Given the description of an element on the screen output the (x, y) to click on. 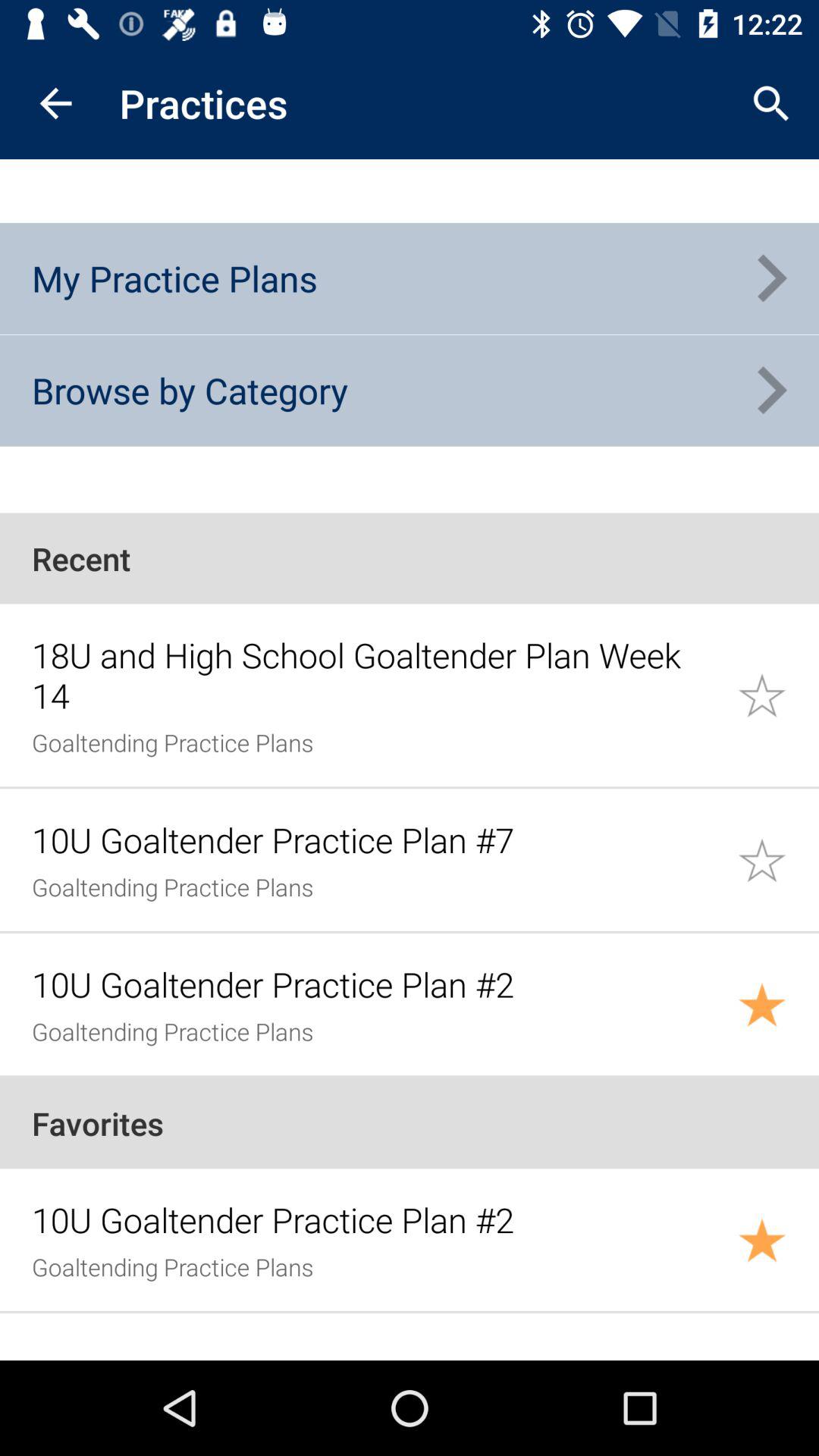
press item above 18u and high (409, 558)
